Given the description of an element on the screen output the (x, y) to click on. 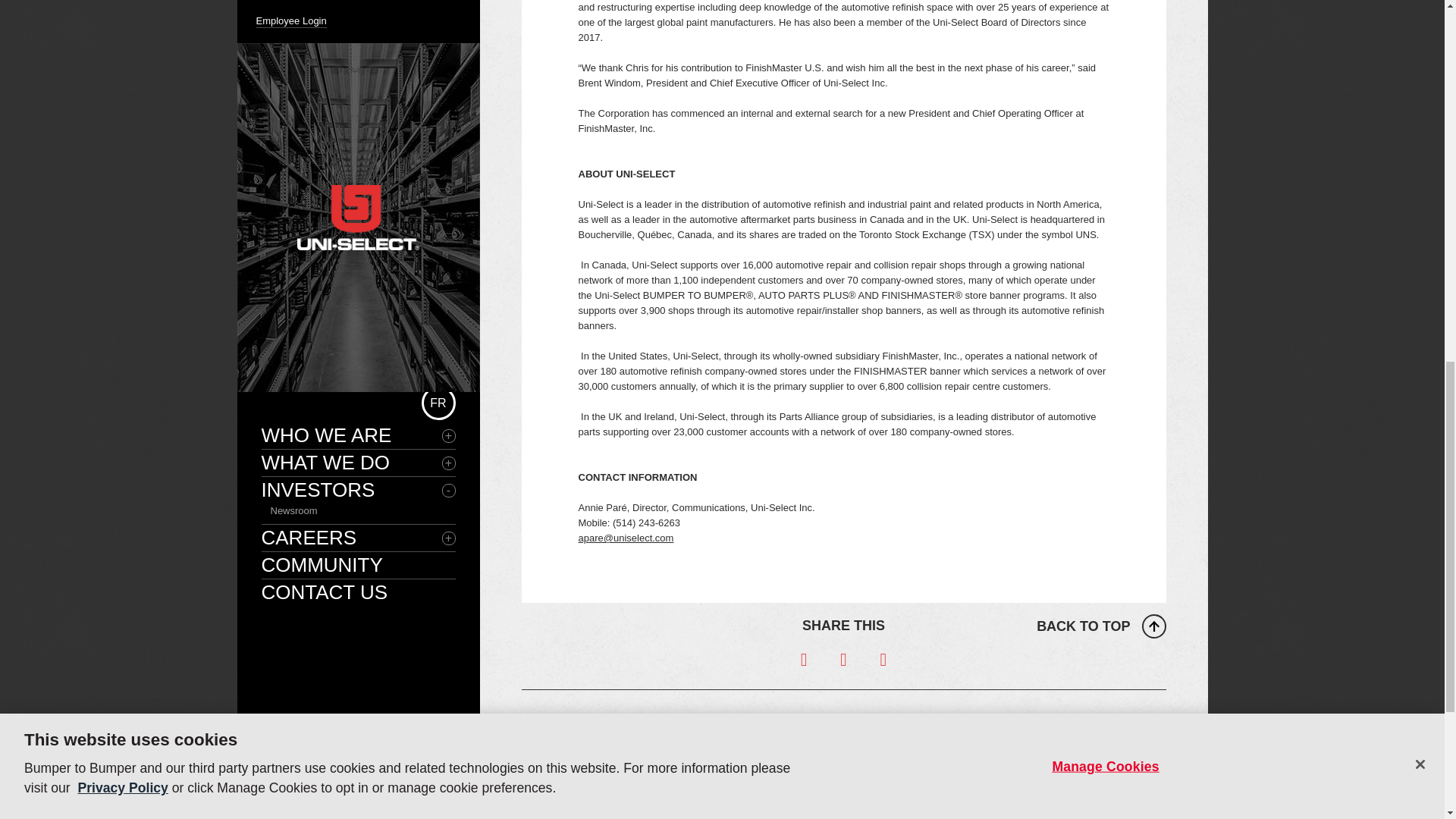
CAREERS (963, 717)
Our Approach (581, 751)
Our History (576, 767)
Geographic Presence (599, 782)
Work at Uni-Select (951, 736)
INVESTORS (844, 717)
BACK TO TOP (1101, 626)
Aftermarket (696, 736)
WHAT WE DO (723, 717)
WHO WE ARE (603, 717)
Key Facts (573, 736)
Newsroom (815, 736)
Career Opportunities (957, 751)
